Given the description of an element on the screen output the (x, y) to click on. 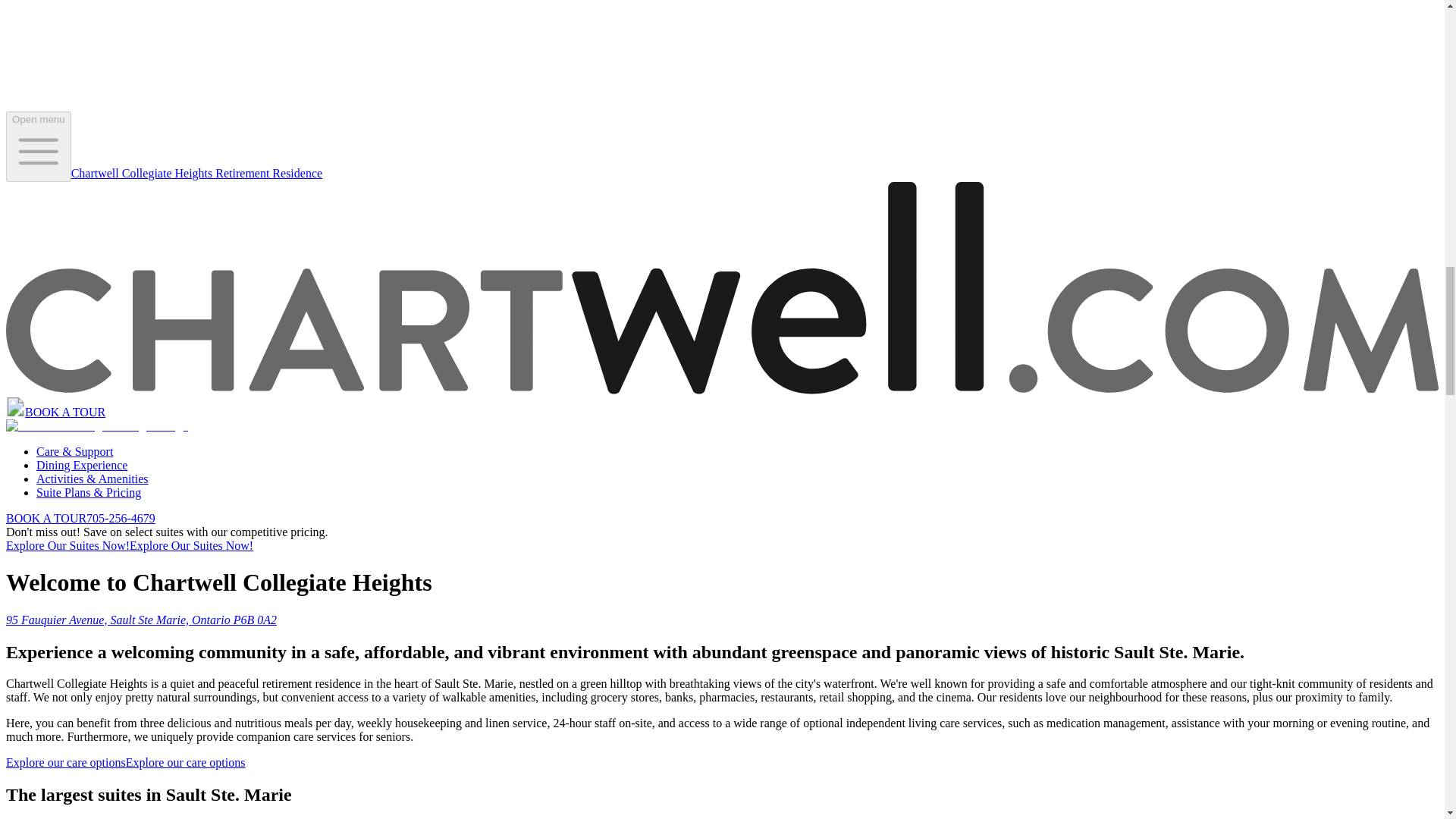
BOOK A TOUR (64, 411)
Explore our care optionsExplore our care options (124, 762)
Explore Our Suites Now!Explore Our Suites Now! (129, 545)
Open menu (38, 146)
Dining Experience (82, 464)
Explore our care options (124, 762)
705-256-4679 (120, 517)
95 Fauquier Avenue, Sault Ste Marie, Ontario P6B 0A2 (140, 619)
BOOK A TOUR (45, 517)
Explore Our Suites Now! (129, 545)
